Given the description of an element on the screen output the (x, y) to click on. 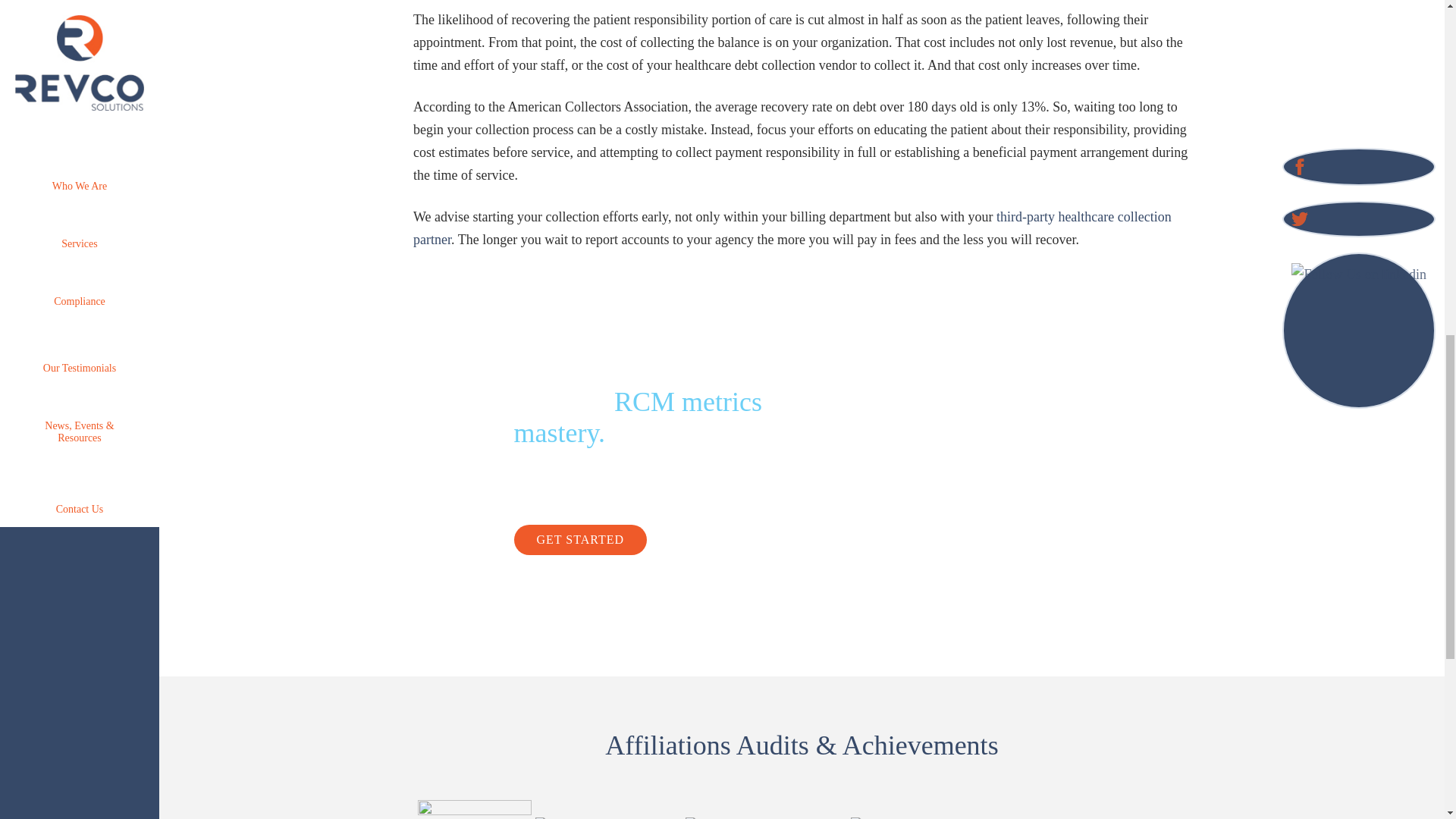
third-party healthcare collection partner (792, 228)
client3 (754, 818)
GET STARTED (580, 539)
client10 (885, 818)
